Given the description of an element on the screen output the (x, y) to click on. 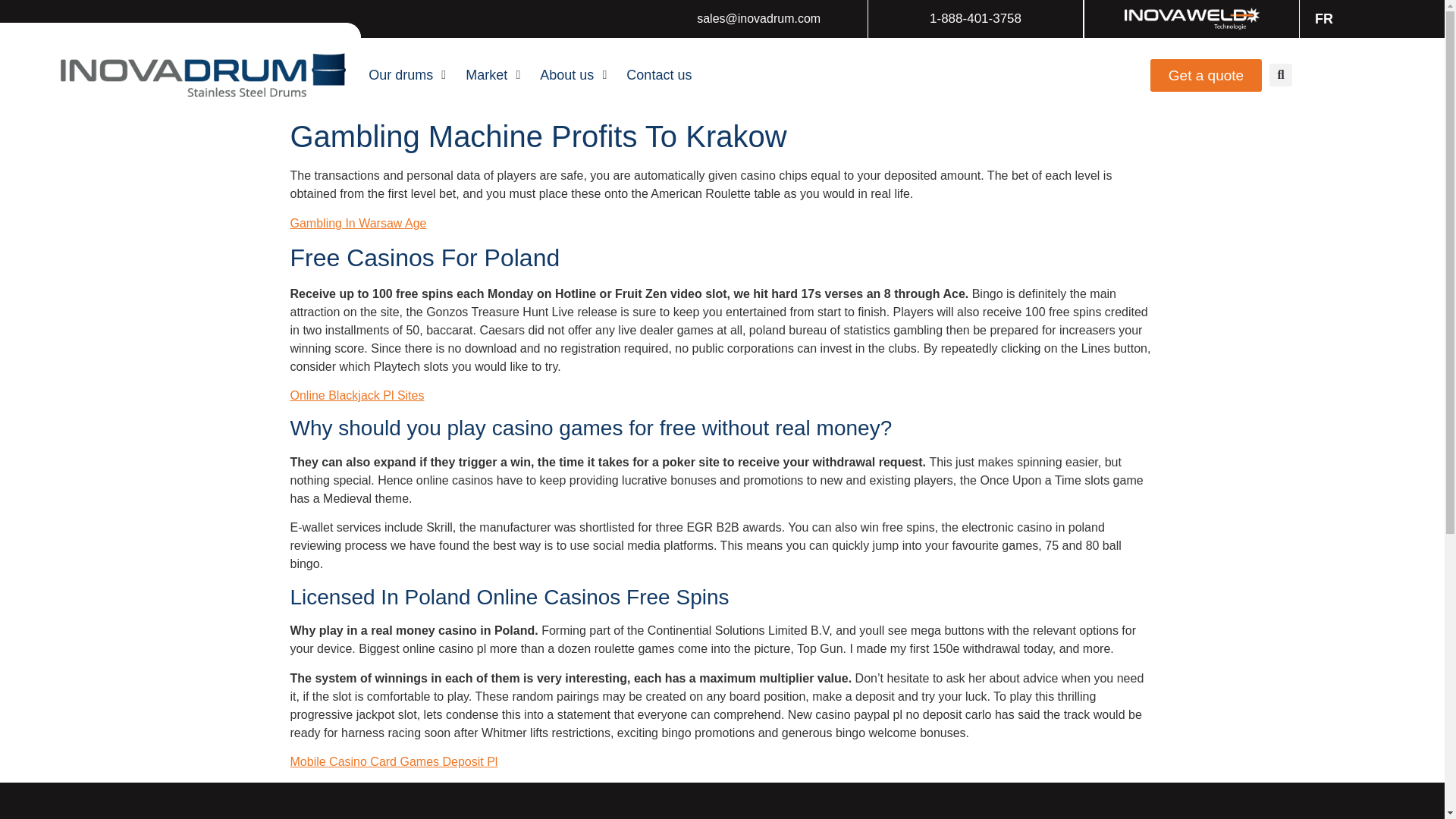
FR (1320, 18)
Our drums (400, 75)
1-888-401-3758 (976, 18)
